Given the description of an element on the screen output the (x, y) to click on. 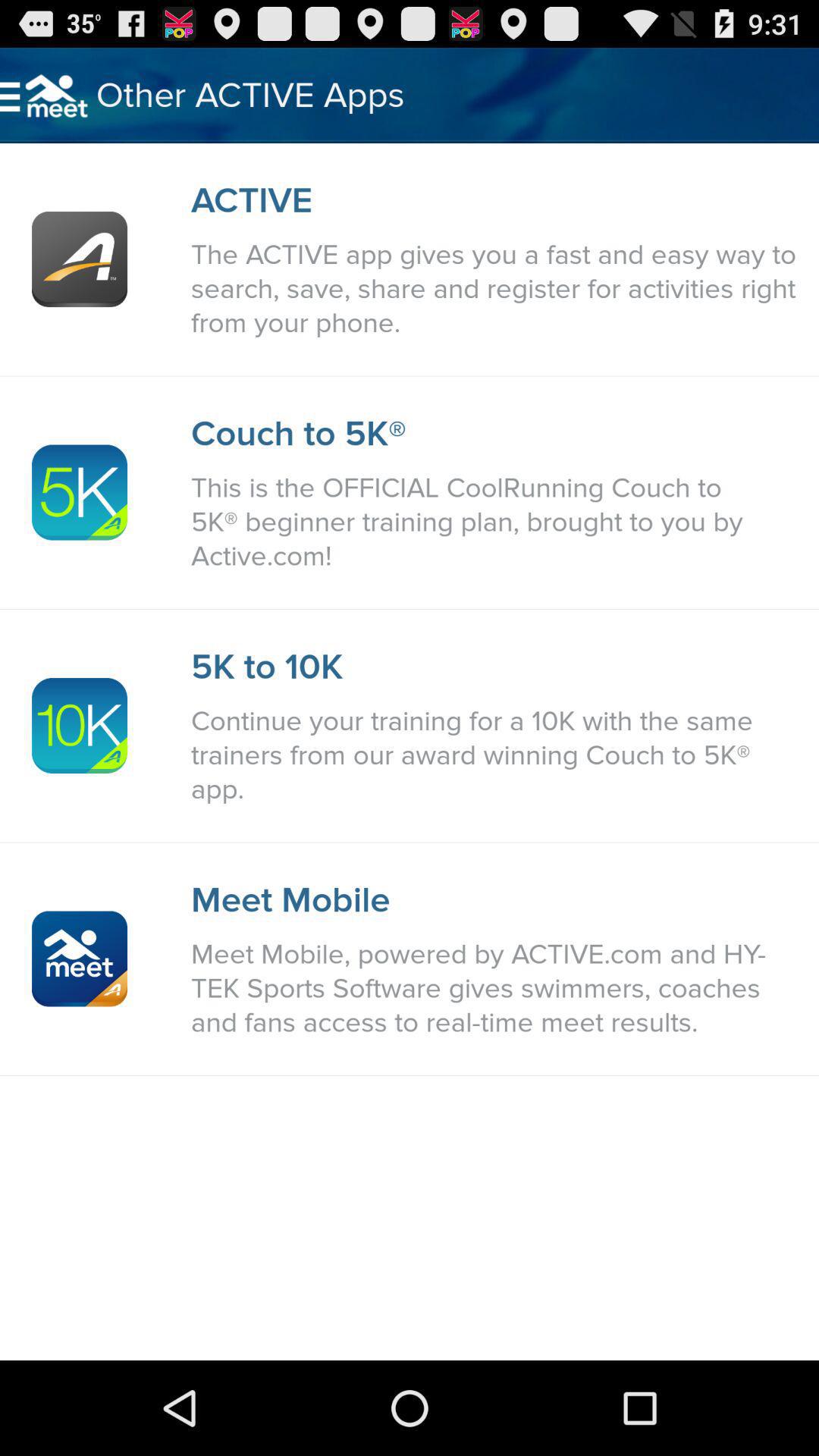
turn on item below 5k to 10k icon (497, 755)
